Given the description of an element on the screen output the (x, y) to click on. 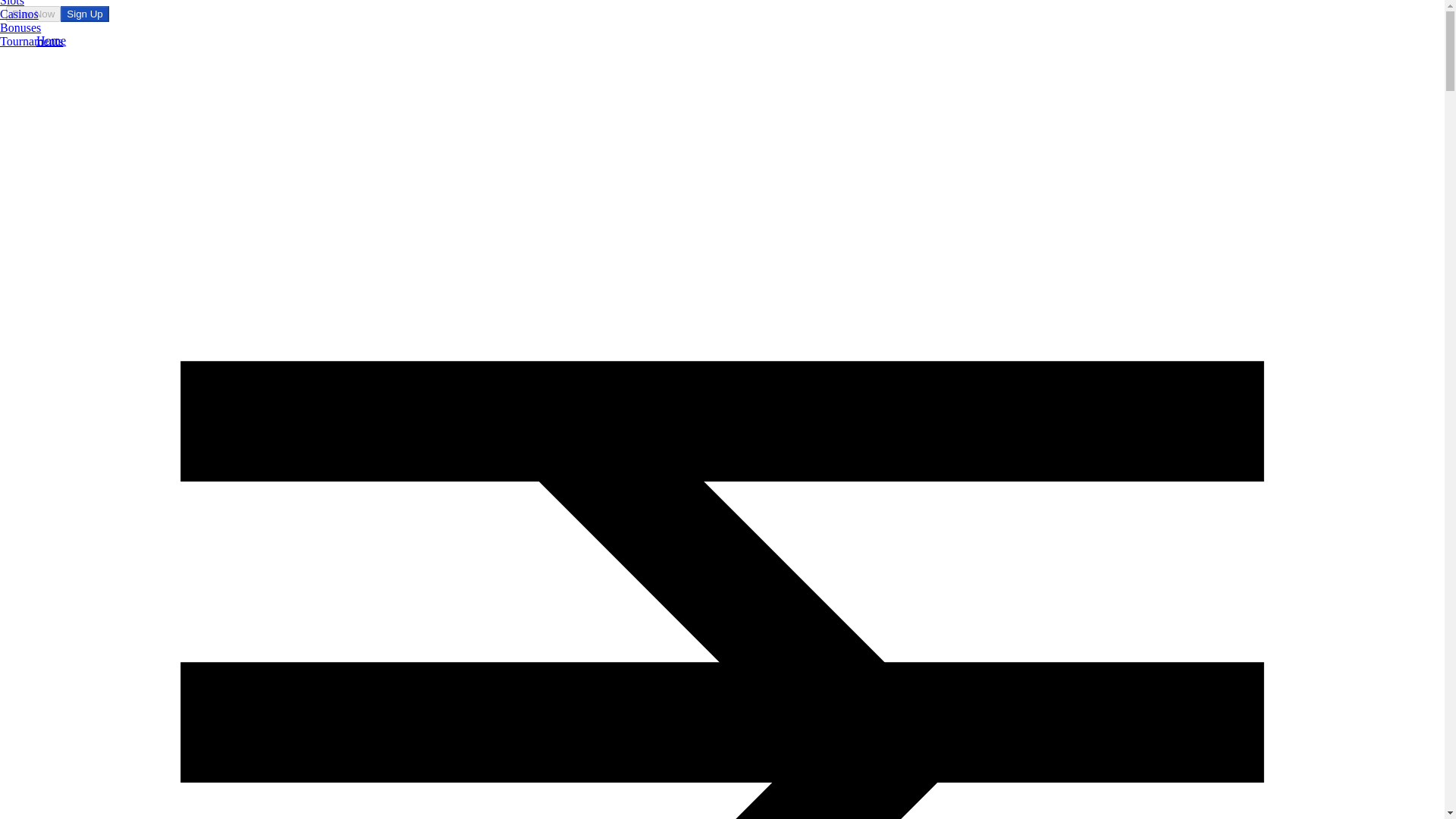
Play Now (33, 13)
Home (50, 40)
Sign Up (84, 13)
